Given the description of an element on the screen output the (x, y) to click on. 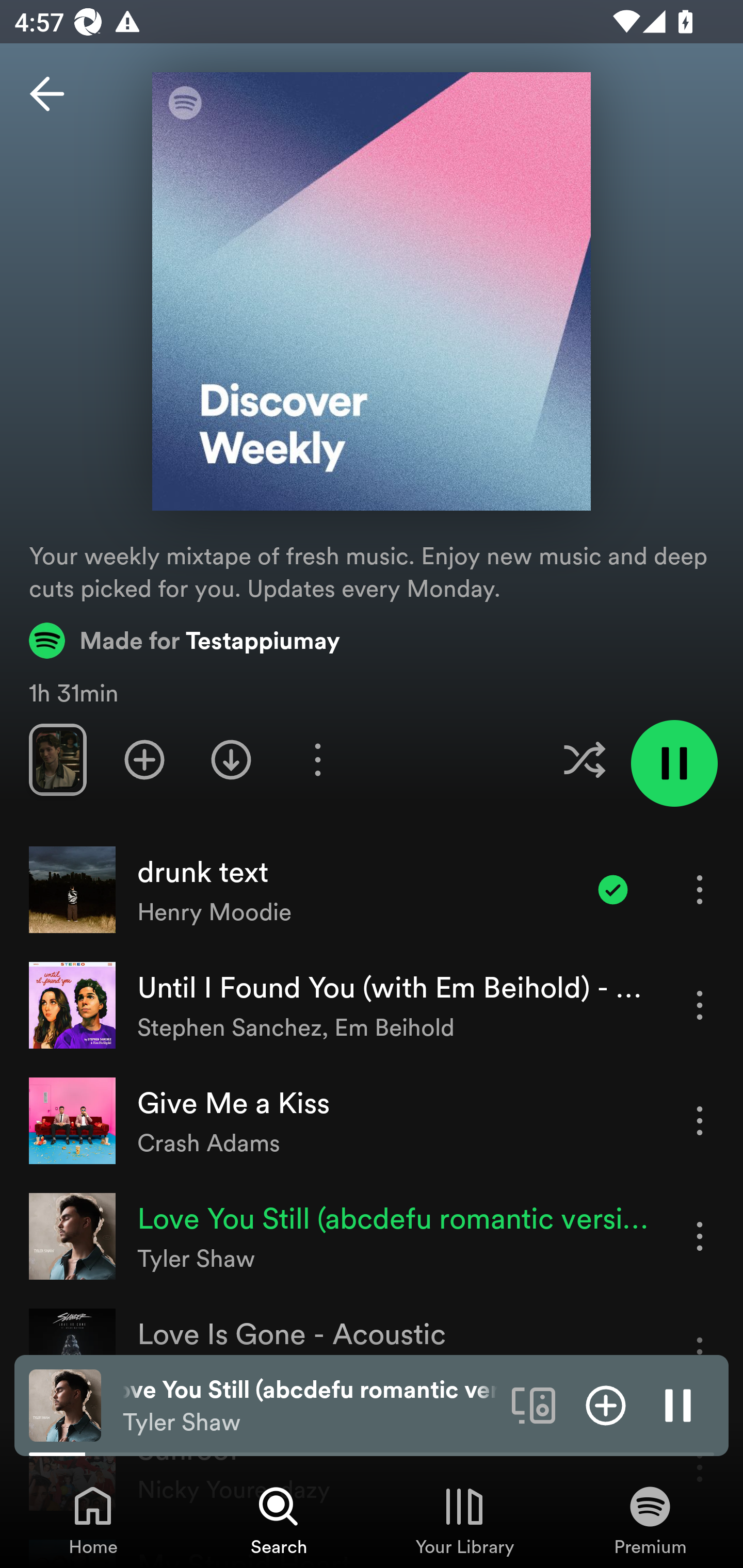
Back (46, 93)
Made for Testappiumay (184, 640)
Swipe through previews of tracks in this playlist. (57, 759)
Add playlist to Your Library (144, 759)
Download (230, 759)
More options for playlist Discover Weekly (317, 759)
Enable shuffle for this playlist (583, 759)
Pause playlist (674, 763)
Item added (612, 889)
More options for song drunk text (699, 889)
More options for song Give Me a Kiss (699, 1120)
The cover art of the currently playing track (64, 1404)
Connect to a device. Opens the devices menu (533, 1404)
Add item (605, 1404)
Pause (677, 1404)
Home, Tab 1 of 4 Home Home (92, 1519)
Search, Tab 2 of 4 Search Search (278, 1519)
Your Library, Tab 3 of 4 Your Library Your Library (464, 1519)
Premium, Tab 4 of 4 Premium Premium (650, 1519)
